Given the description of an element on the screen output the (x, y) to click on. 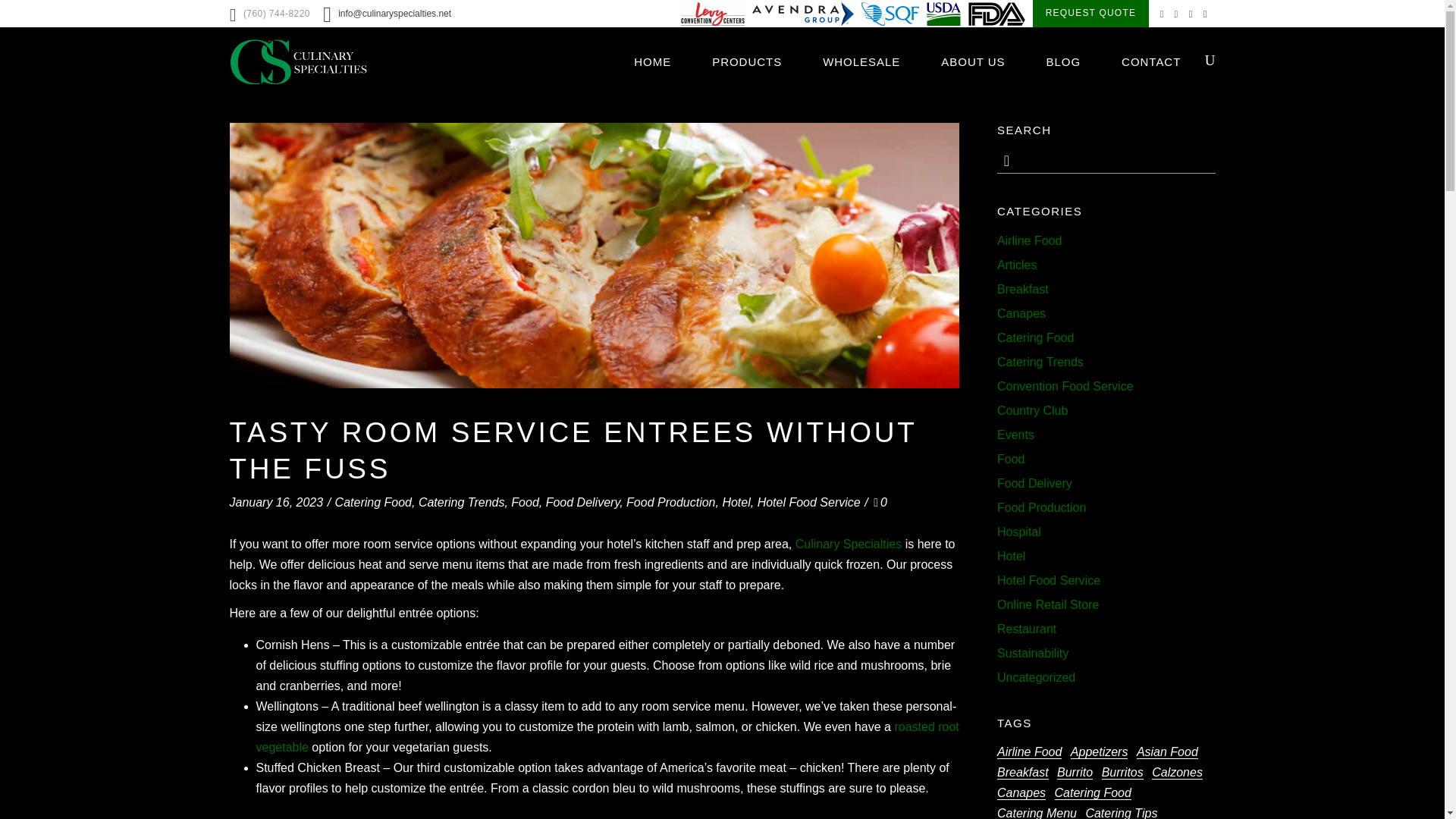
HOME (651, 61)
Search for: (1112, 160)
REQUEST QUOTE (1090, 13)
PRODUCTS (746, 61)
Like this (879, 502)
